Given the description of an element on the screen output the (x, y) to click on. 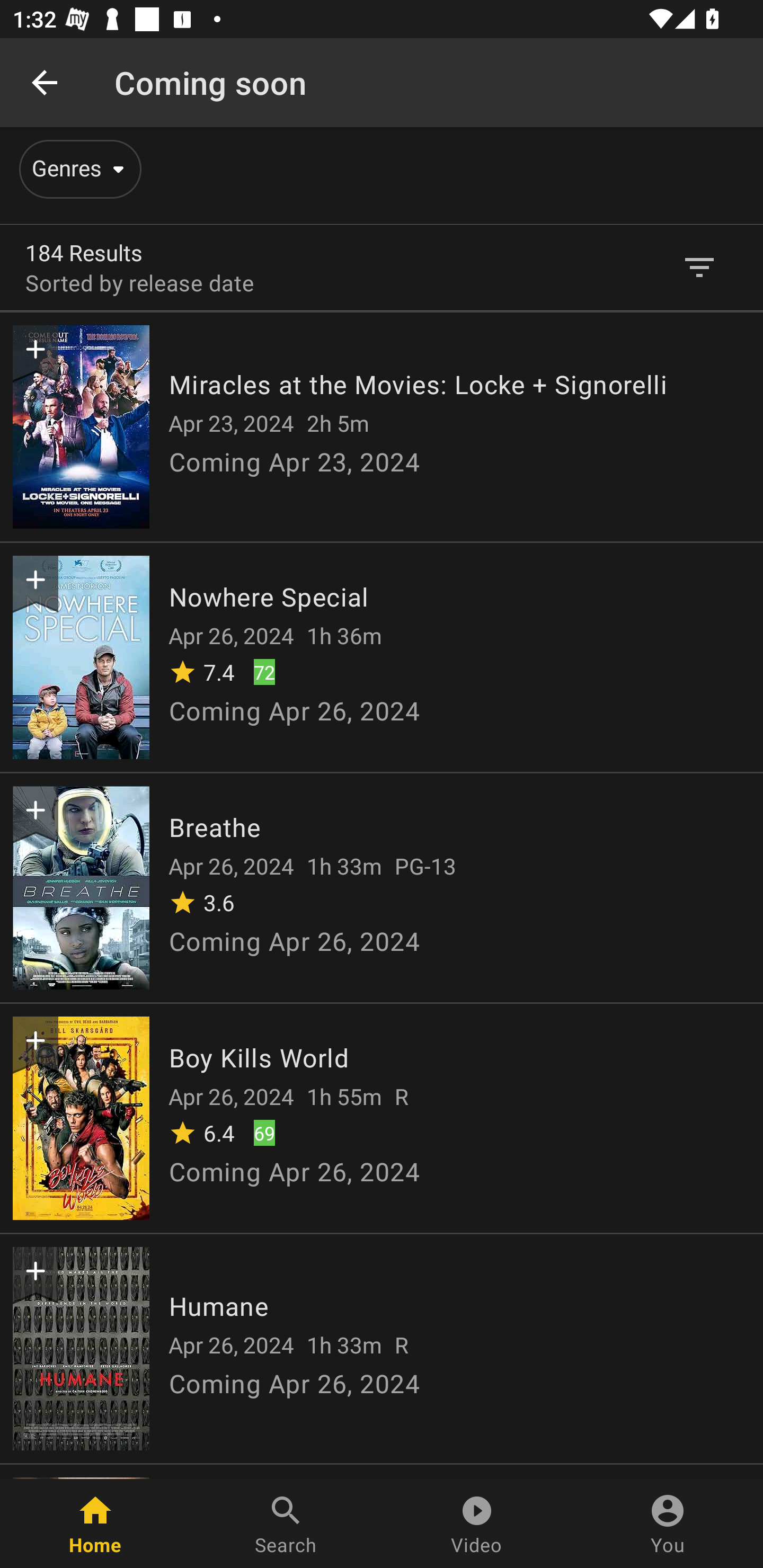
Genres (77, 169)
Humane Apr 26, 2024 1h 33m R Coming Apr 26, 2024 (381, 1347)
Search (285, 1523)
Video (476, 1523)
You (667, 1523)
